Given the description of an element on the screen output the (x, y) to click on. 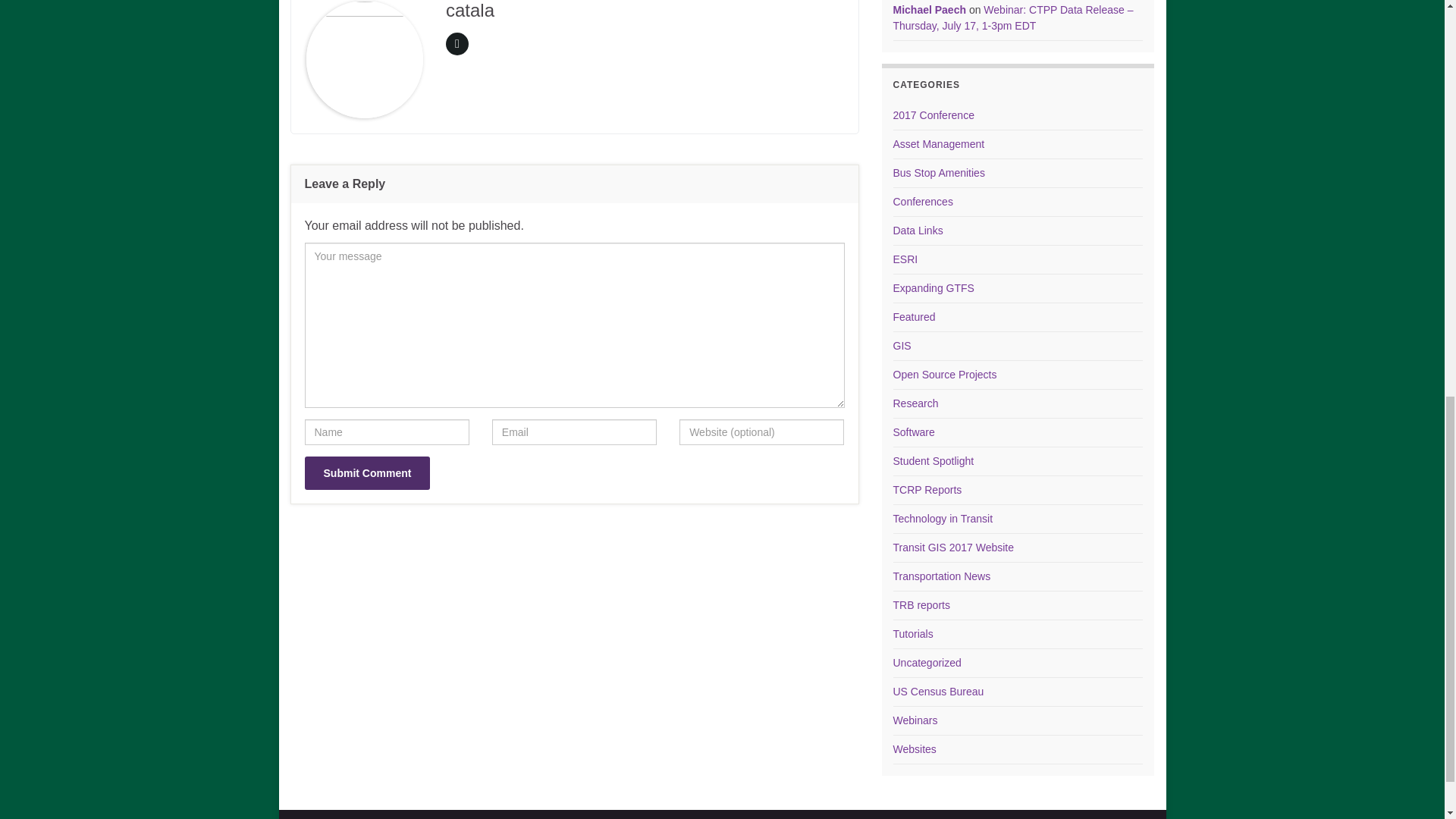
Submit Comment (367, 472)
